Given the description of an element on the screen output the (x, y) to click on. 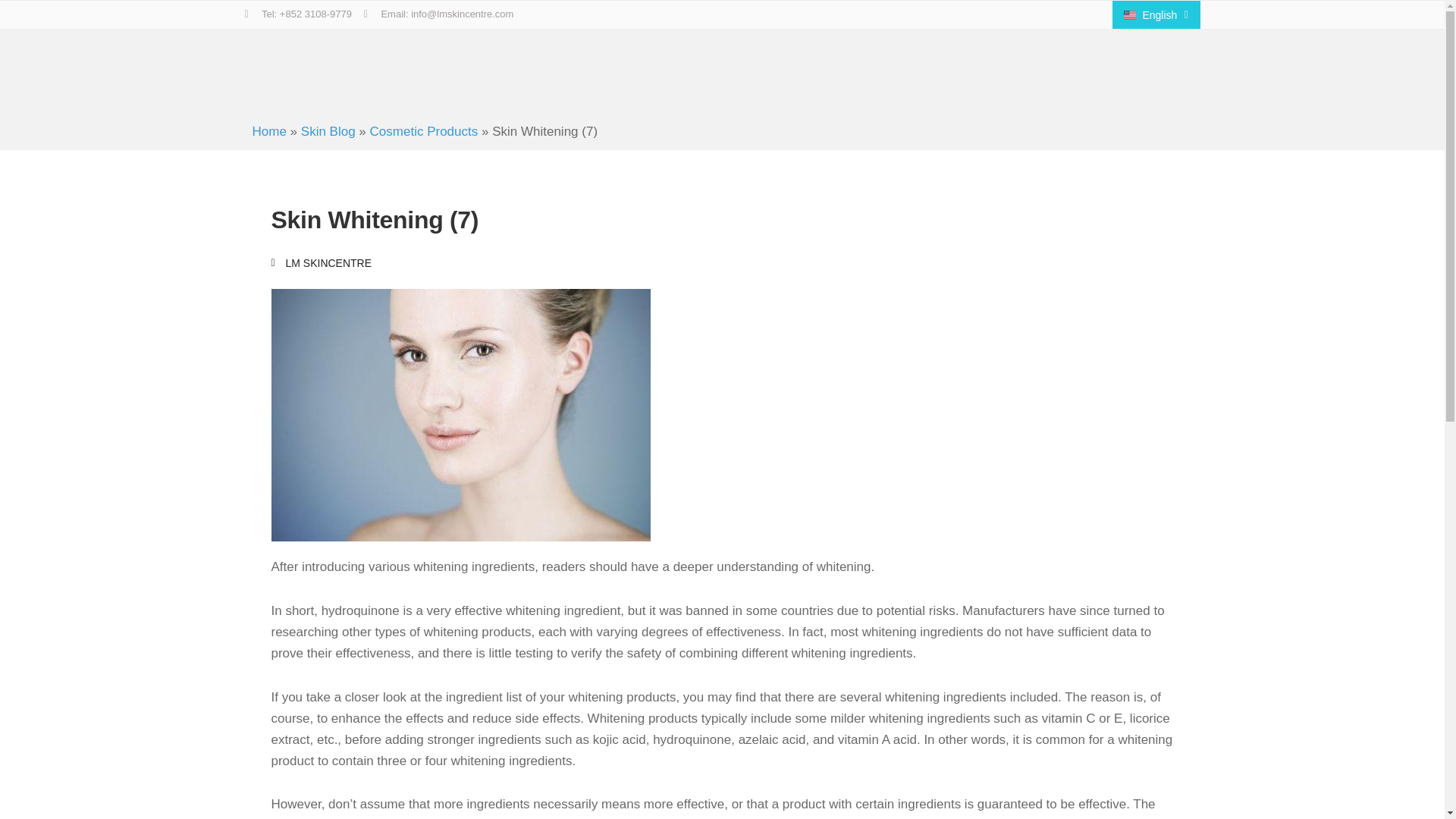
Home (268, 131)
Cosmetic Products (424, 131)
Skin Blog (328, 131)
English (1155, 14)
